Given the description of an element on the screen output the (x, y) to click on. 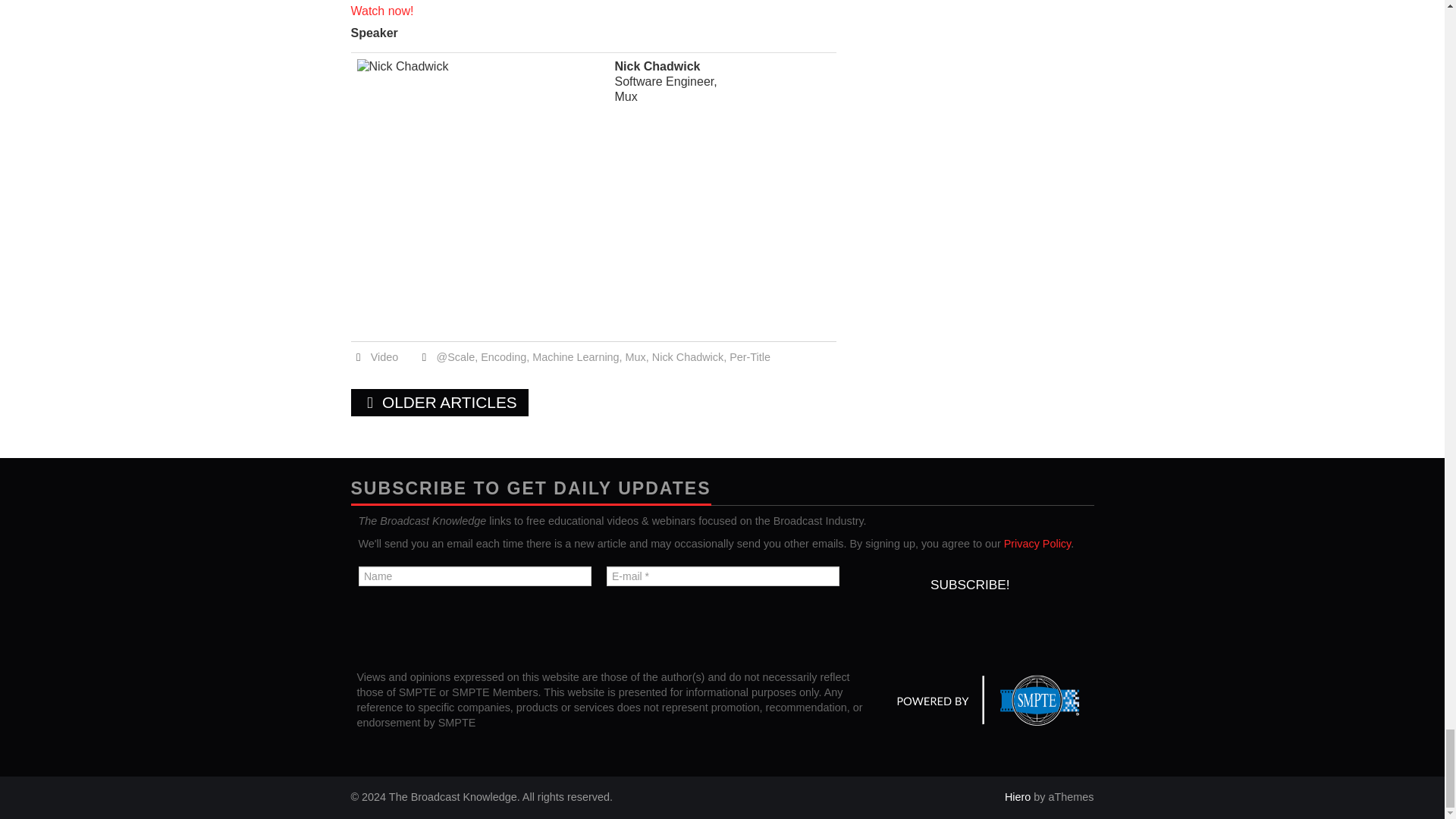
Subscribe! (969, 584)
